Given the description of an element on the screen output the (x, y) to click on. 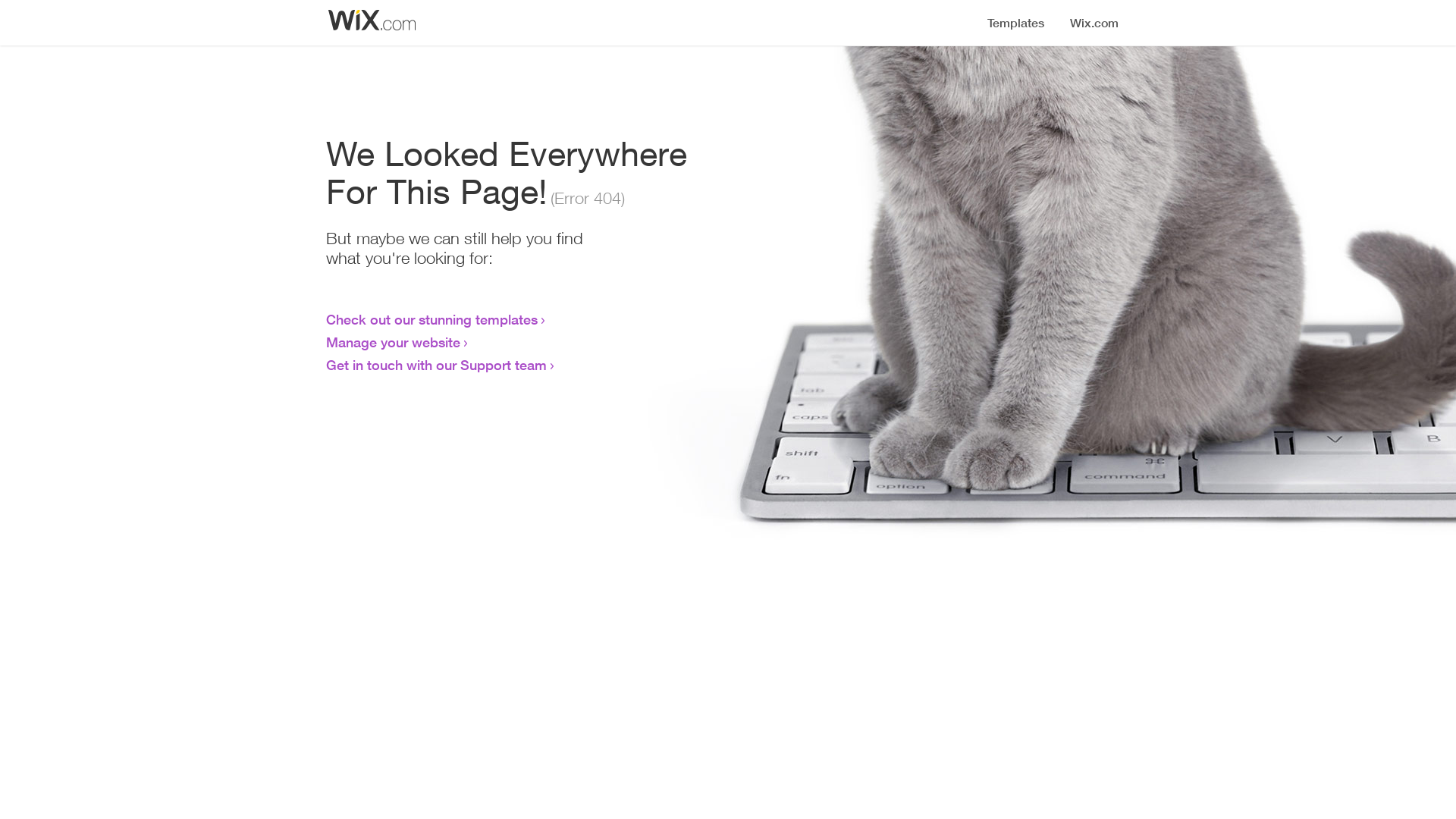
Check out our stunning templates Element type: text (431, 318)
Manage your website Element type: text (393, 341)
Get in touch with our Support team Element type: text (436, 364)
